Given the description of an element on the screen output the (x, y) to click on. 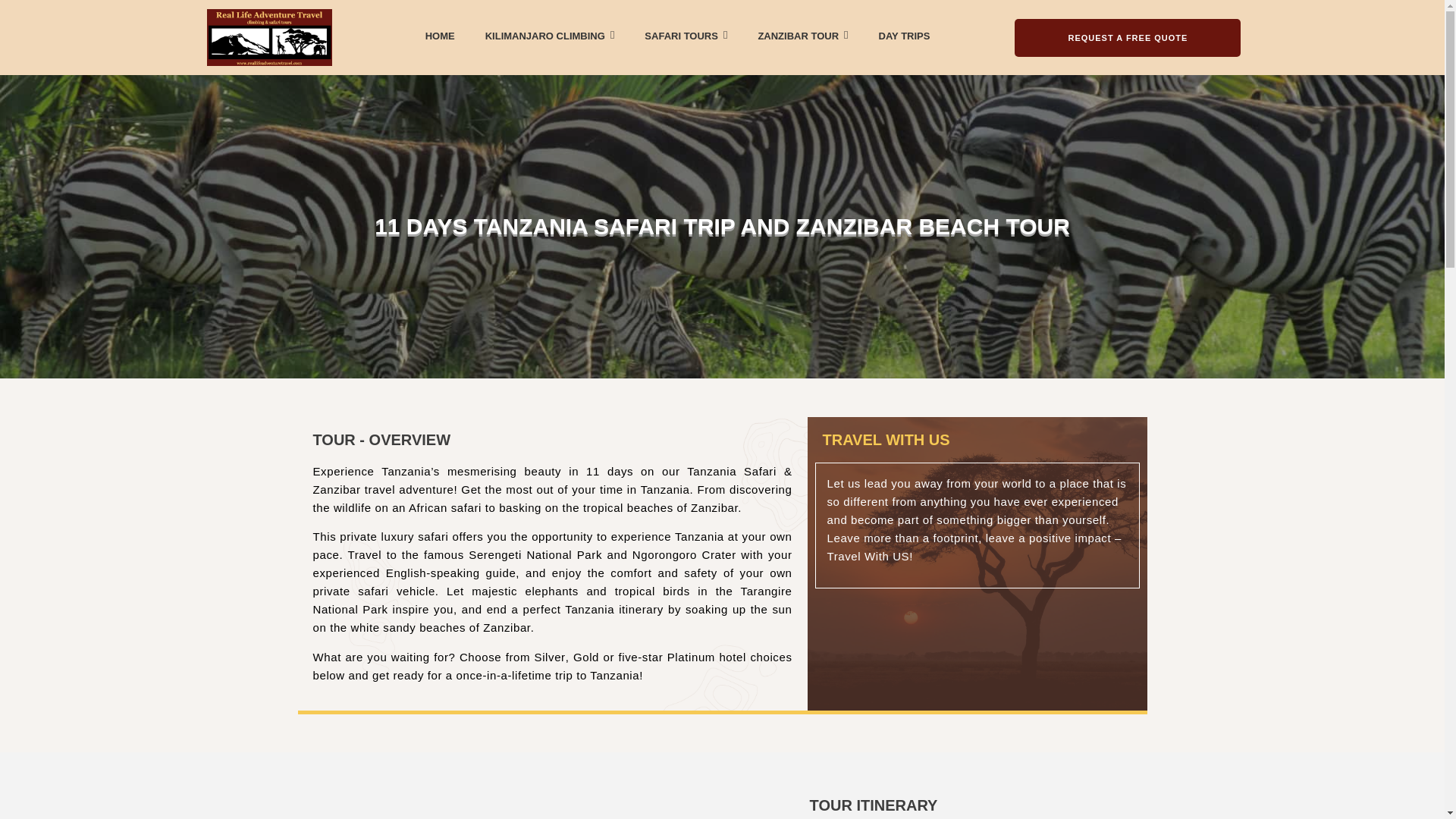
DAY TRIPS (904, 35)
HOME (439, 35)
SAFARI TOURS (685, 35)
ZANZIBAR TOUR (802, 35)
KILIMANJARO CLIMBING (549, 35)
